Given the description of an element on the screen output the (x, y) to click on. 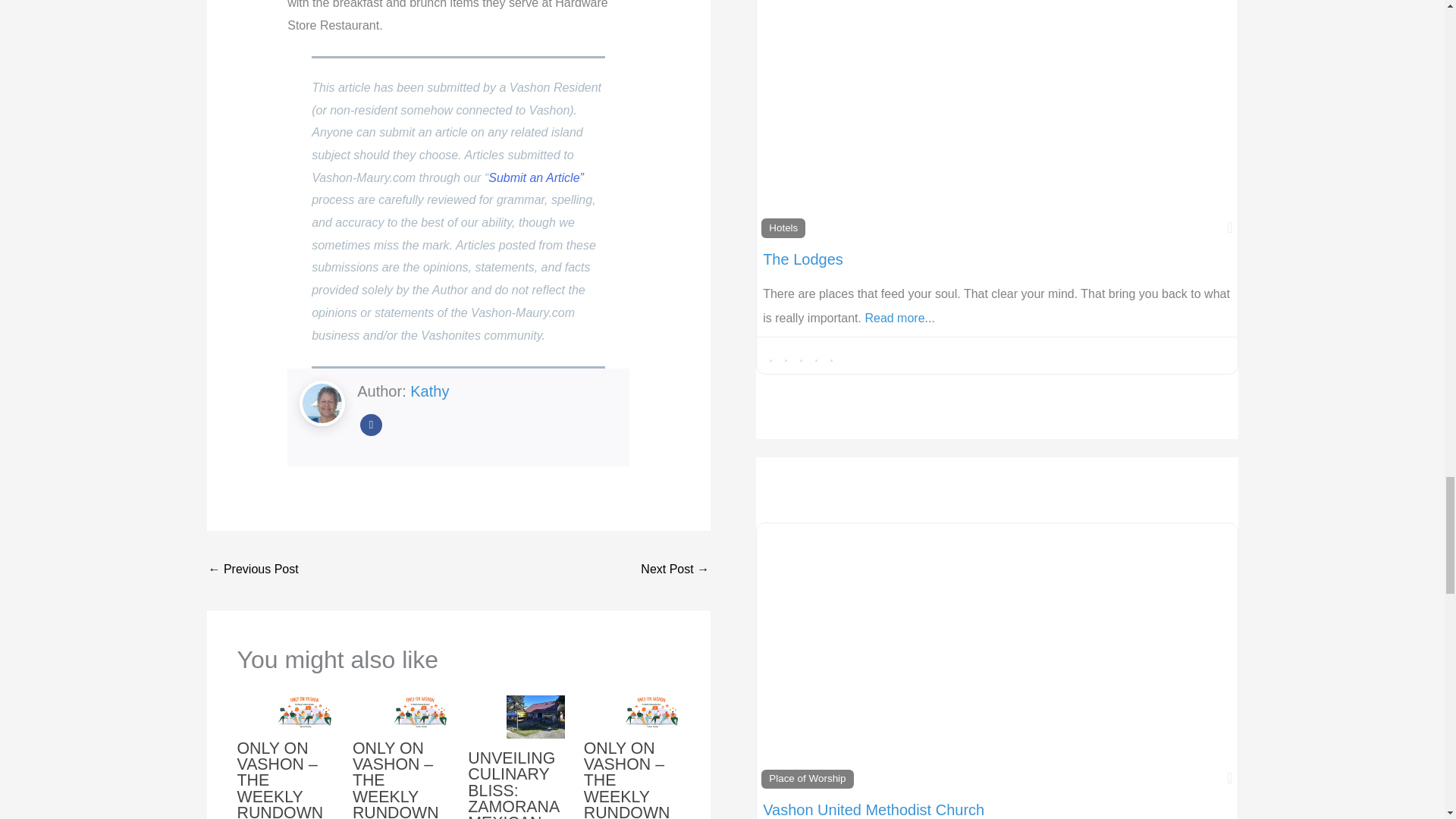
Facebook (370, 424)
